Given the description of an element on the screen output the (x, y) to click on. 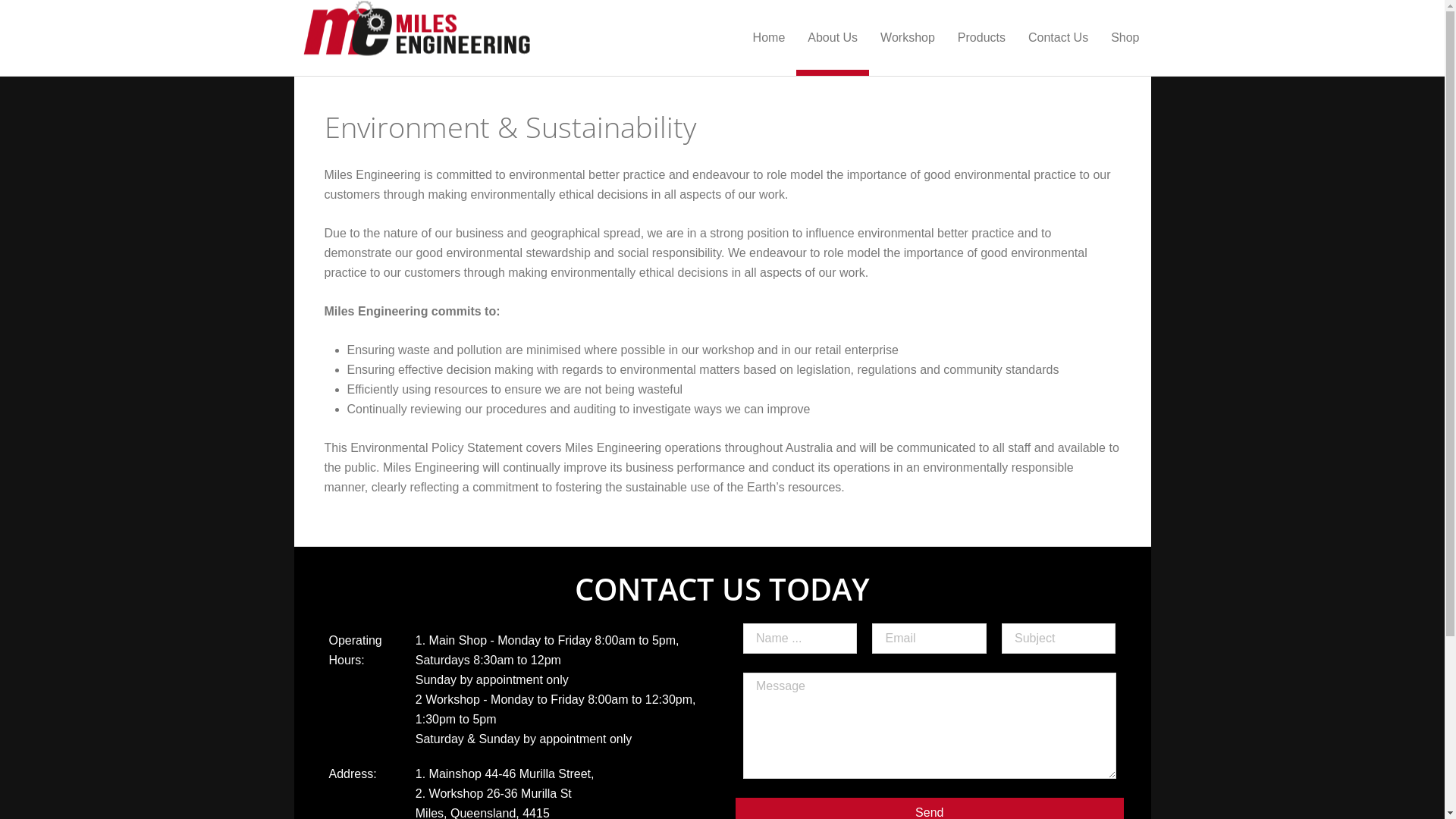
About Us Element type: text (832, 37)
Shop Element type: text (1124, 37)
Workshop Element type: text (907, 37)
Home Element type: text (769, 37)
Contact Us Element type: text (1057, 37)
Products Element type: text (981, 37)
